Given the description of an element on the screen output the (x, y) to click on. 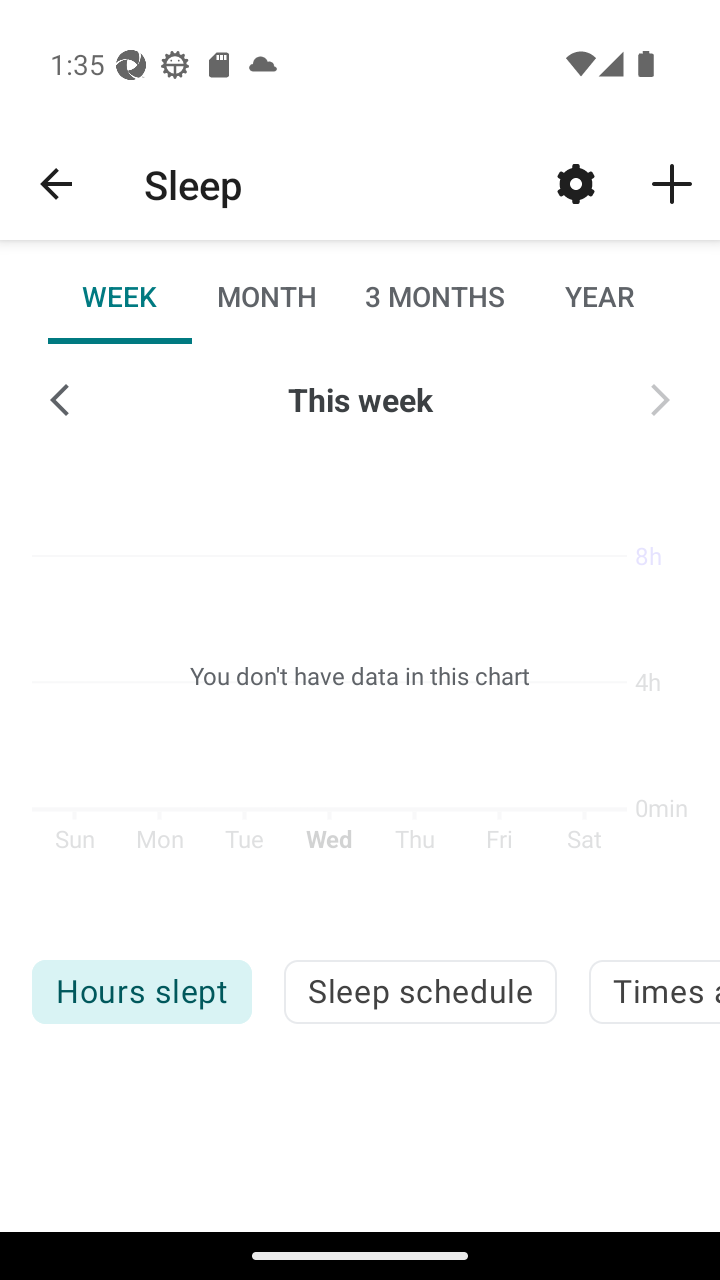
Navigate up (56, 184)
Adjust your goal (575, 183)
Tap to track sleep or
 log a past record (672, 183)
MONTH (265, 296)
3 MONTHS (433, 296)
YEAR (599, 296)
Previous (60, 399)
Next (659, 399)
Hours slept (141, 991)
Sleep schedule (420, 991)
Times awakened (654, 991)
